Given the description of an element on the screen output the (x, y) to click on. 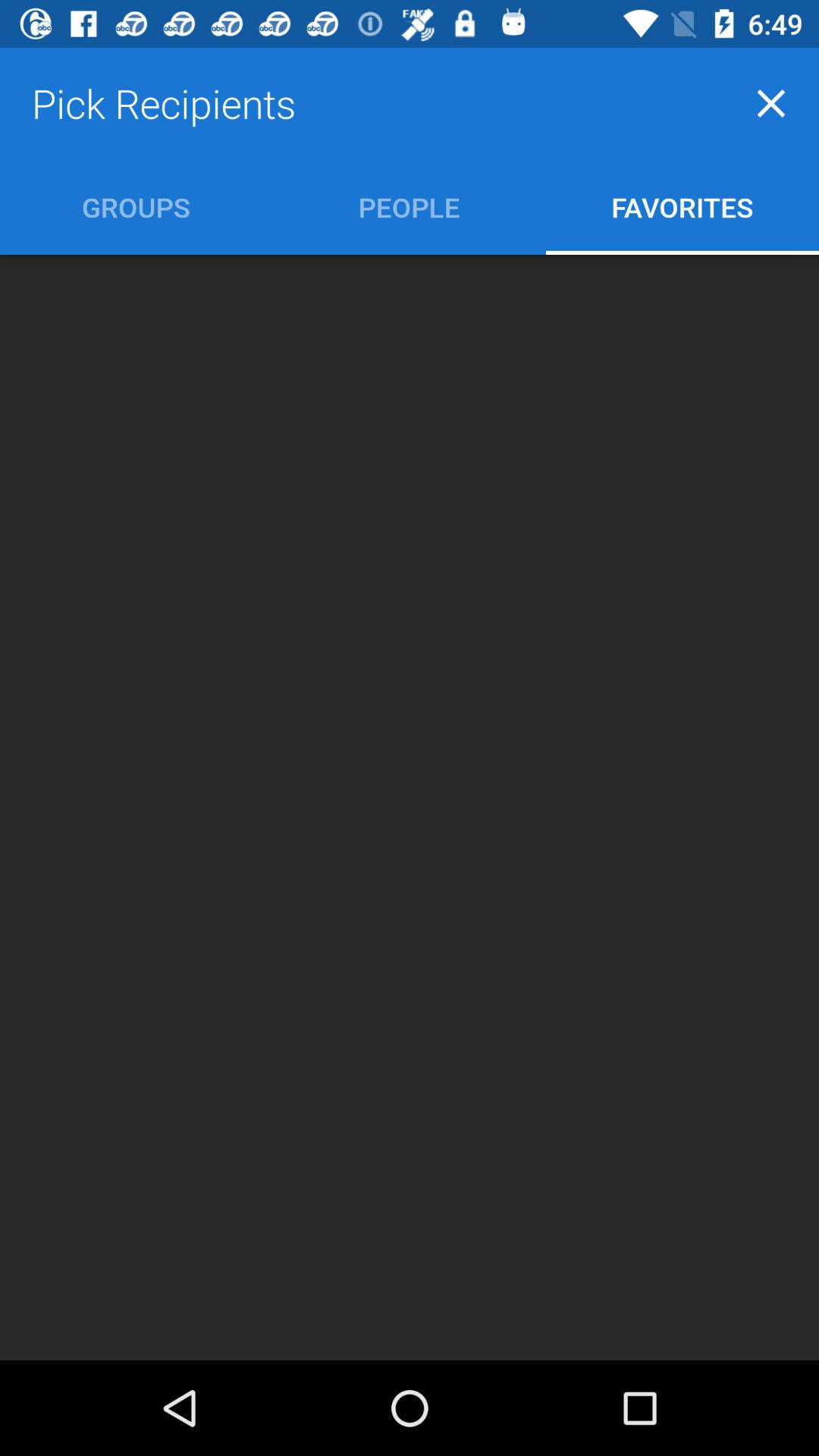
turn on the favorites icon (682, 206)
